Given the description of an element on the screen output the (x, y) to click on. 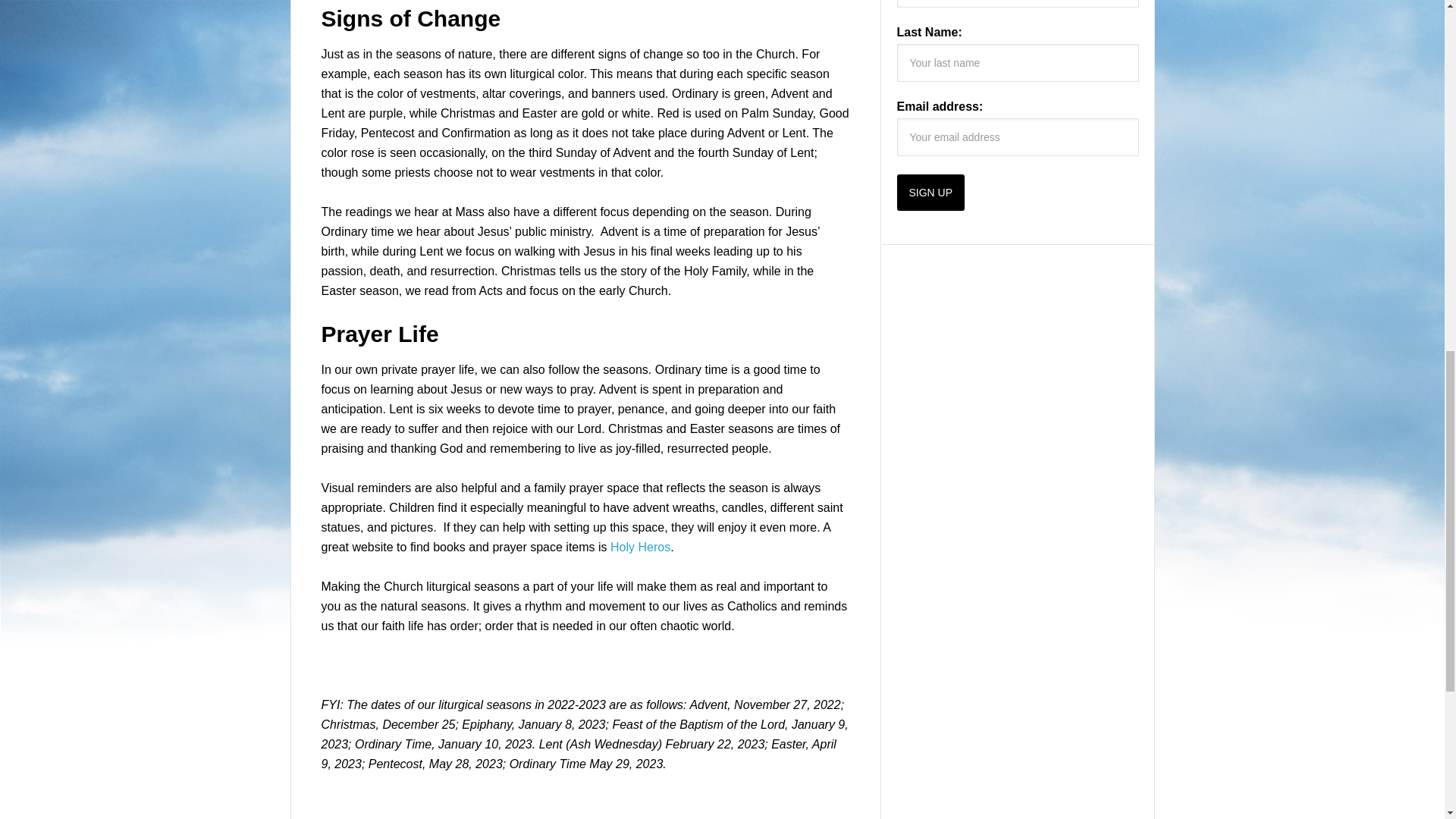
Sign up (929, 192)
